Given the description of an element on the screen output the (x, y) to click on. 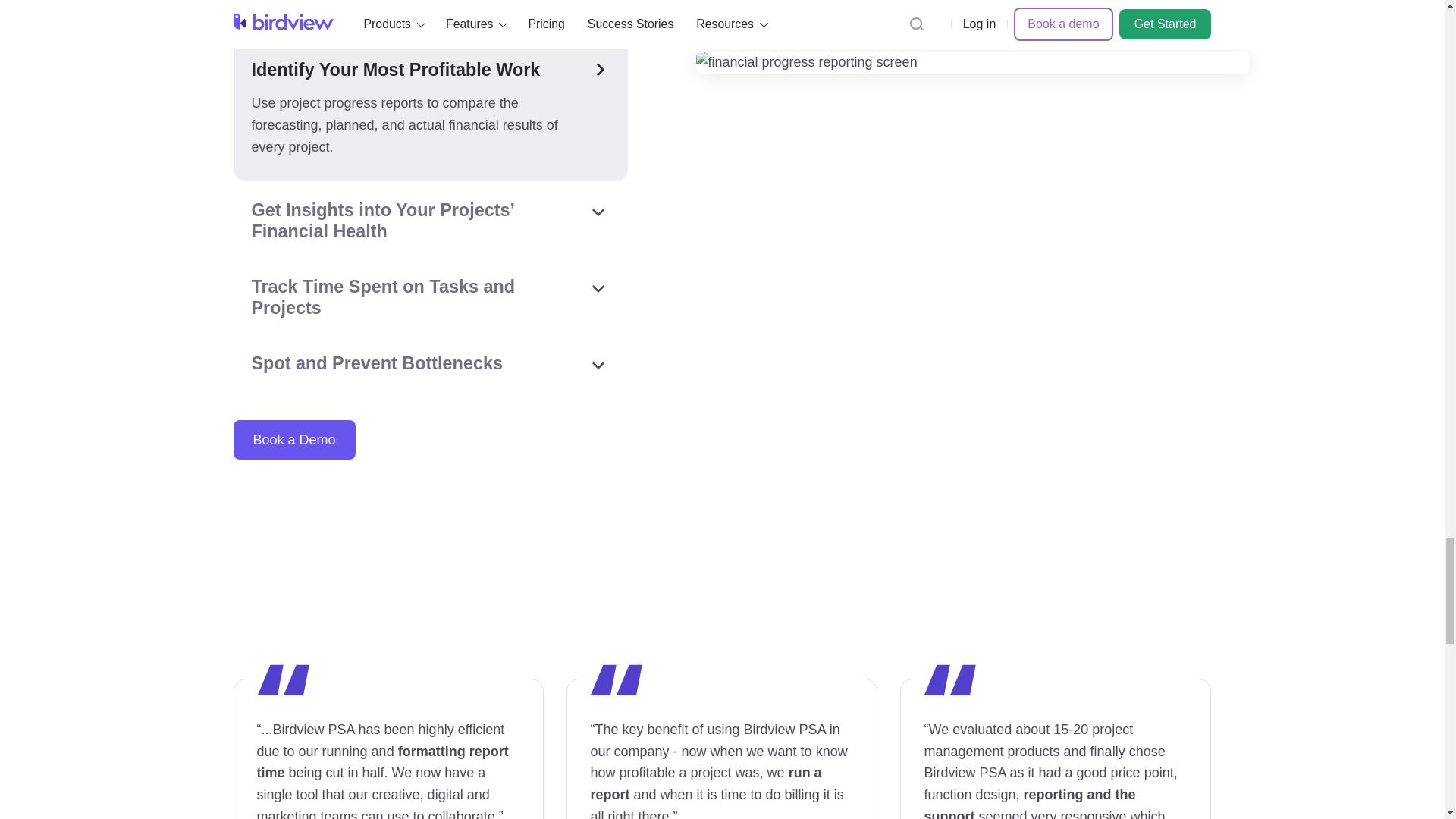
Book a Demo (293, 439)
